Given the description of an element on the screen output the (x, y) to click on. 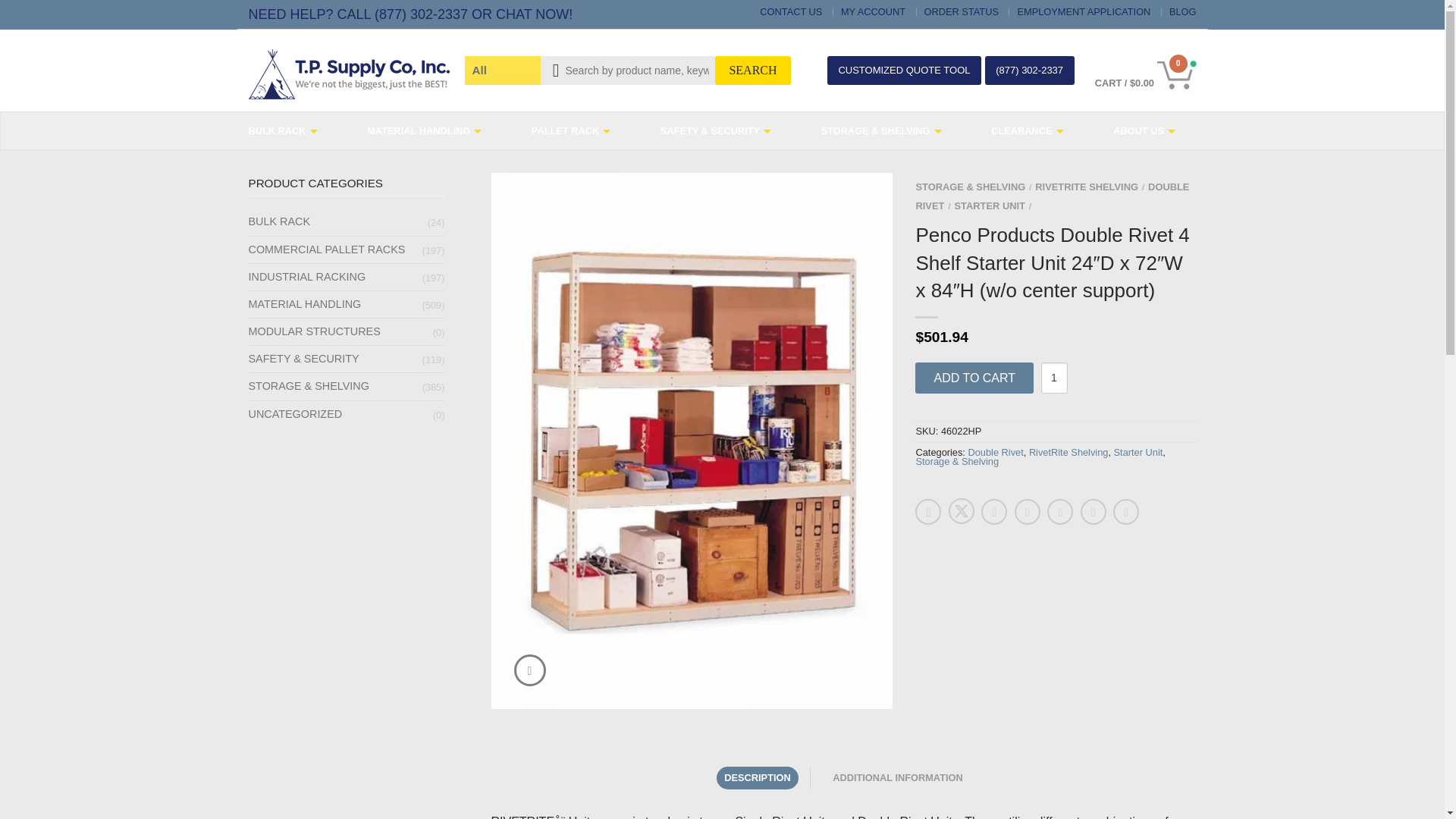
Email to a Friend (994, 511)
BULK RACK (288, 130)
ORDER STATUS (961, 11)
MATERIAL HANDLING (429, 130)
Pin on Pinterest (1059, 511)
EMPLOYMENT APPLICATION (1083, 11)
Share on Facebook (927, 511)
BLOG (1182, 11)
Share on Tumblr (1125, 511)
Share on Twitter (961, 510)
Search (752, 70)
Search (752, 70)
CONTACT US (791, 11)
MY ACCOUNT (873, 11)
Share on LinkedIn (1027, 511)
